Given the description of an element on the screen output the (x, y) to click on. 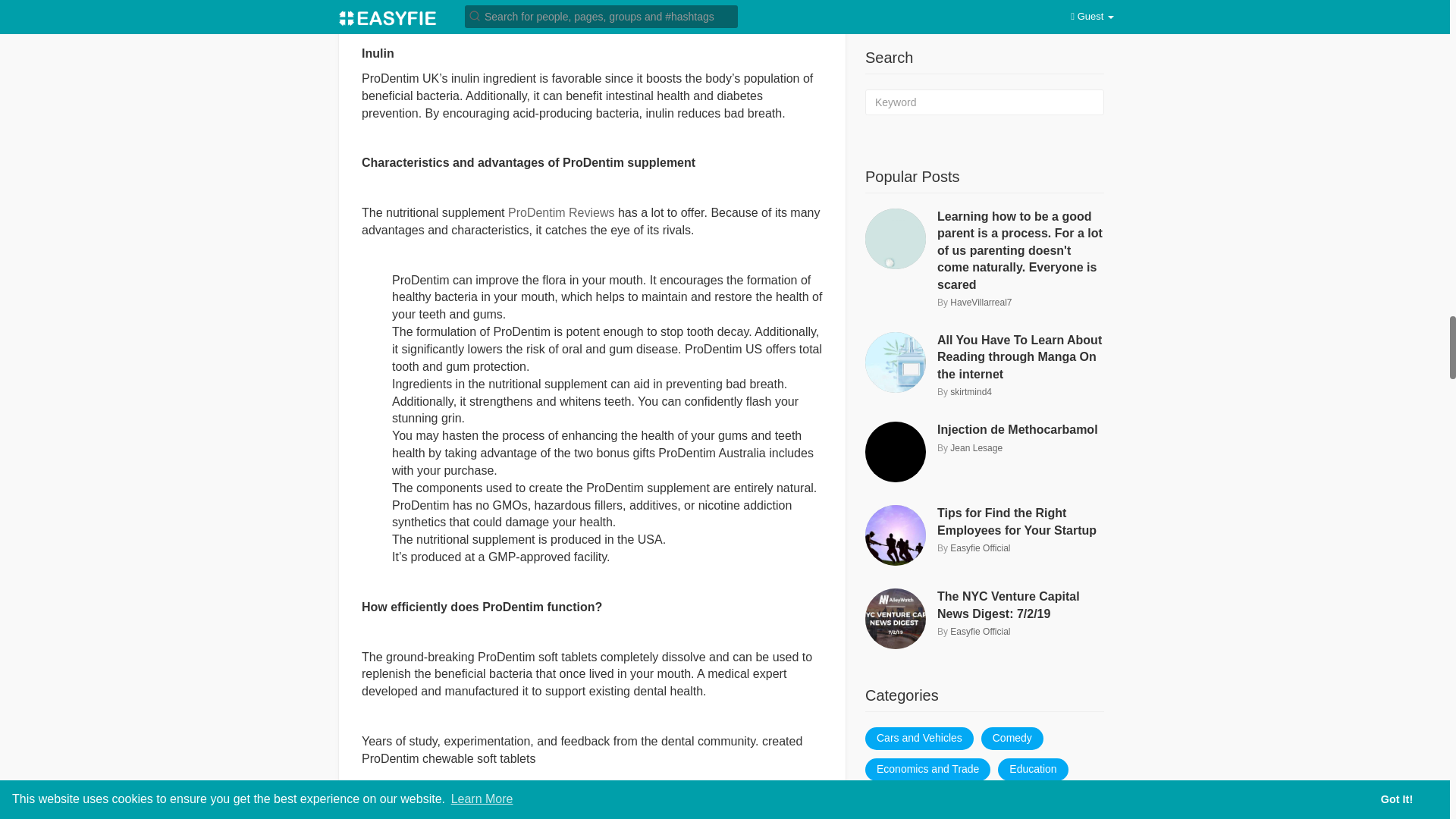
ProDentim Reviews (561, 212)
